Given the description of an element on the screen output the (x, y) to click on. 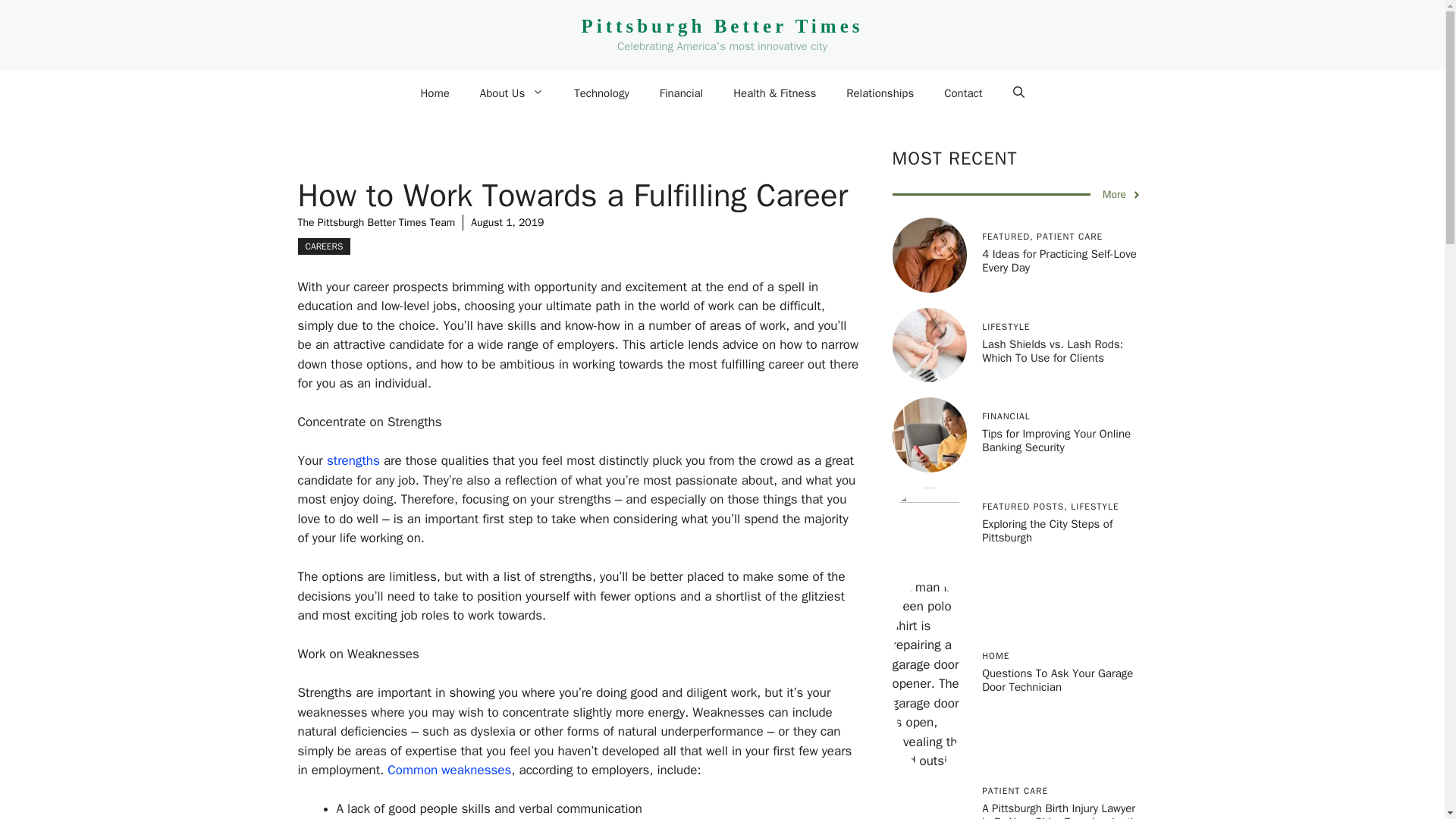
Exploring the City Steps of Pittsburgh (1046, 530)
About Us (511, 92)
Pittsburgh Better Times (721, 25)
Common weaknesses (449, 770)
Lash Shields vs. Lash Rods: Which To Use for Clients (1051, 350)
The Pittsburgh Better Times Team (375, 222)
Home (434, 92)
CAREERS (323, 246)
Technology (602, 92)
strengths (353, 460)
Financial (682, 92)
Contact (962, 92)
More (1121, 194)
Tips for Improving Your Online Banking Security (1056, 440)
Relationships (879, 92)
